Given the description of an element on the screen output the (x, y) to click on. 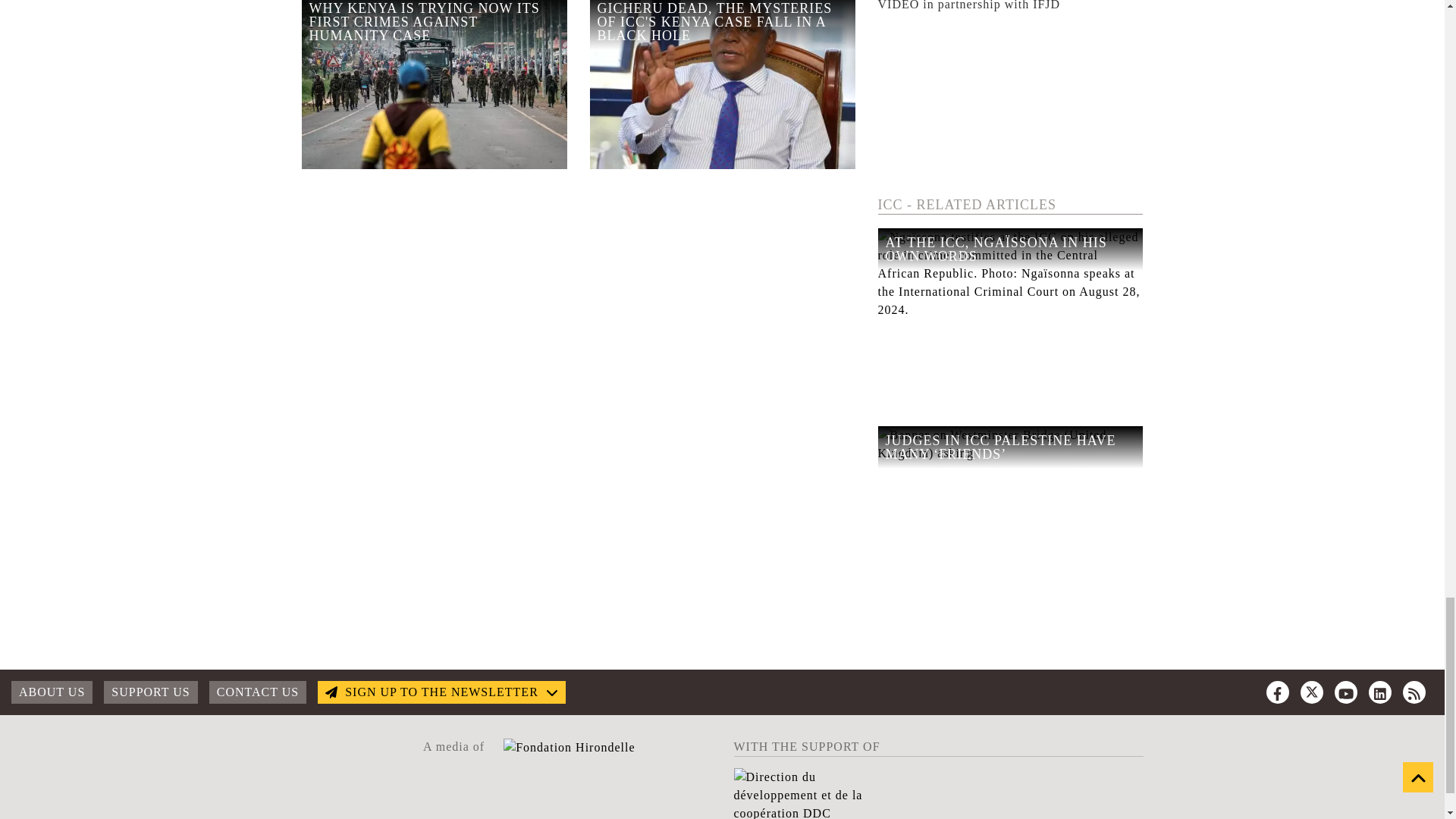
LinkedIn (1379, 691)
Youtube (1345, 691)
RSS (1414, 691)
Twitter (1311, 691)
Facebook (1277, 691)
